Given the description of an element on the screen output the (x, y) to click on. 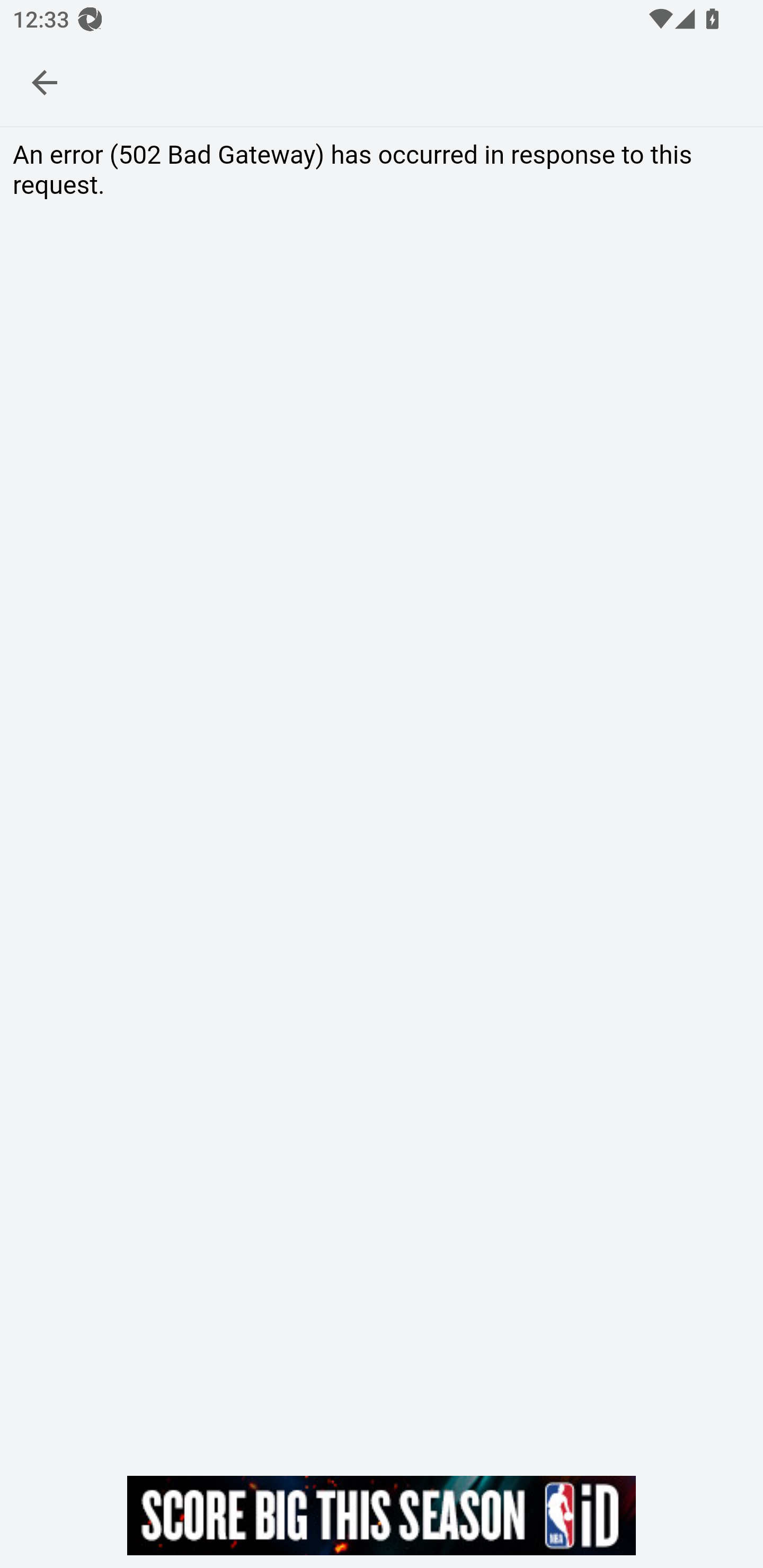
Navigate up (44, 82)
